Given the description of an element on the screen output the (x, y) to click on. 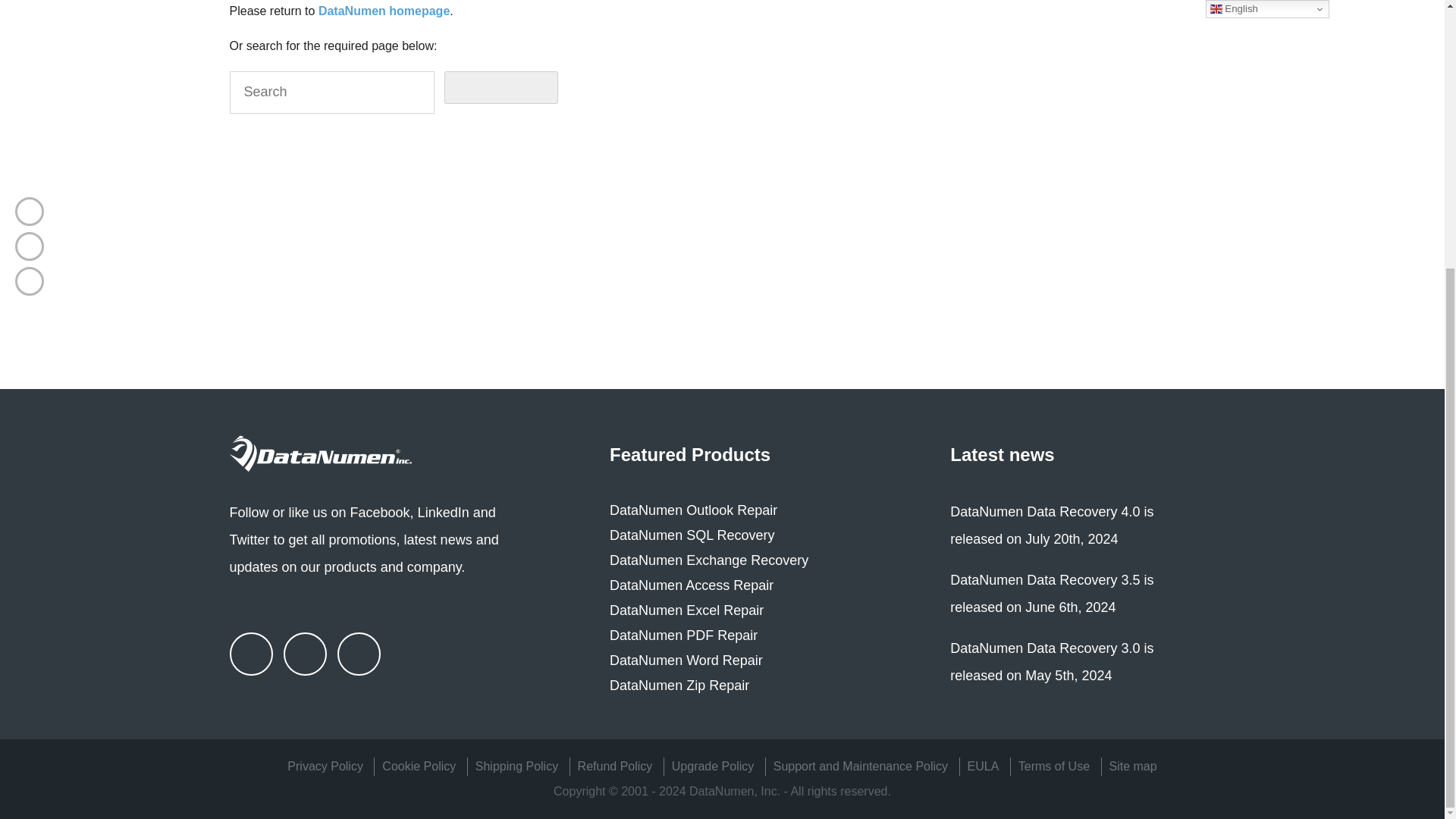
Search for: (330, 92)
